Given the description of an element on the screen output the (x, y) to click on. 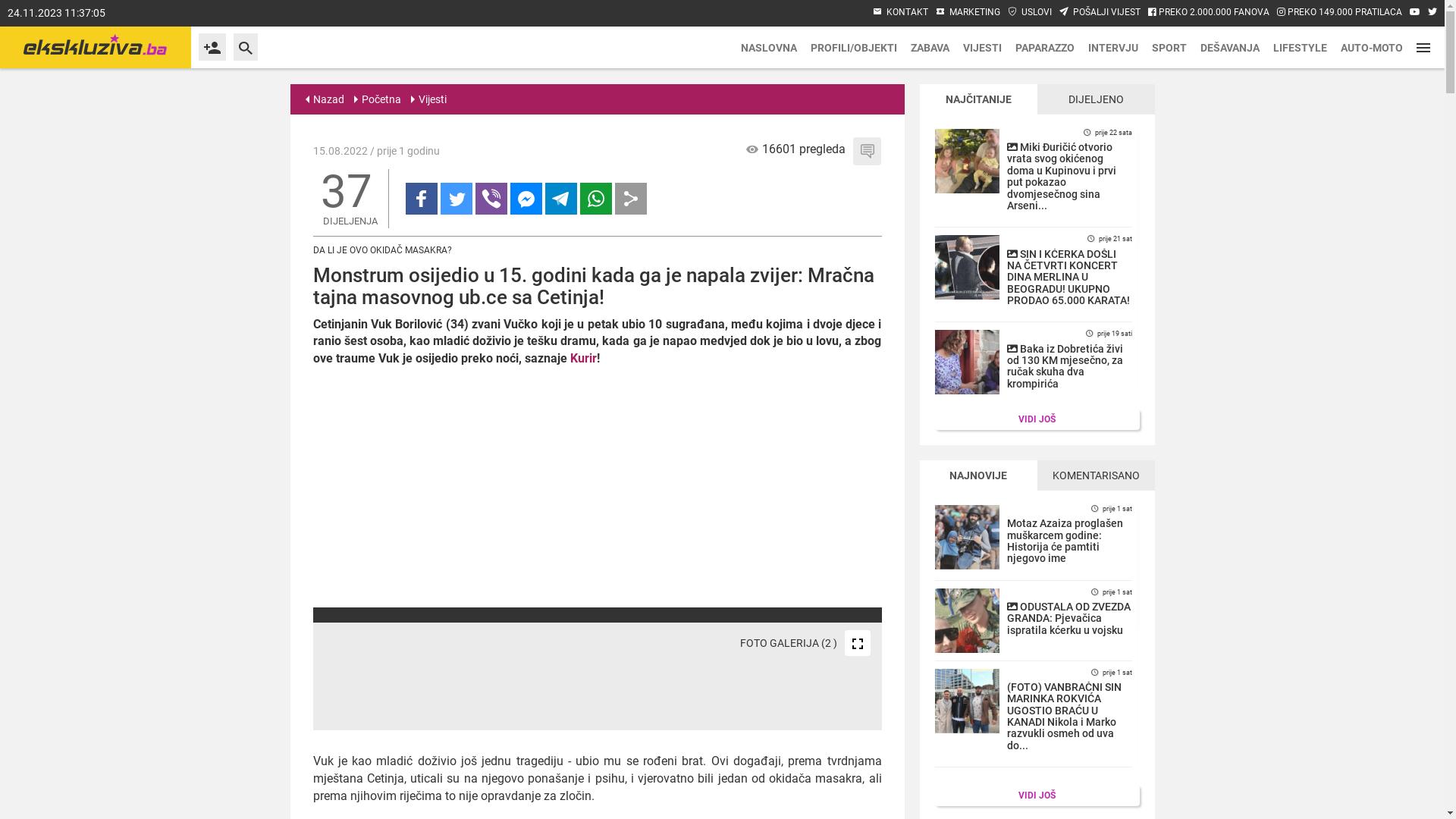
PAPARAZZO Element type: text (1044, 47)
WhatsApp Element type: text (595, 198)
AUTO-MOTO Element type: text (1371, 47)
Nazad Element type: text (323, 98)
ZABAVA Element type: text (929, 47)
PROFILI/OBJEKTI Element type: text (853, 47)
LIFESTYLE Element type: text (1299, 47)
Facebook Element type: text (420, 198)
KONTAKT Element type: text (900, 12)
NAJNOVIJE Element type: text (977, 475)
DIJELJENO Element type: text (1095, 99)
Facebook Messenger Element type: text (525, 198)
VIJESTI Element type: text (982, 47)
Twitter Element type: text (455, 198)
KOMENTARISANO Element type: text (1095, 475)
PREKO 2.000.000 FANOVA Element type: text (1208, 12)
Telegram Element type: text (560, 198)
FOTO GALERIJA (2 ) Element type: text (737, 642)
USLOVI Element type: text (1029, 12)
Kurir Element type: text (583, 358)
Advertisement Element type: hover (596, 485)
MARKETING Element type: text (967, 12)
PREKO 149.000 PRATILACA Element type: text (1339, 12)
Vijesti Element type: text (428, 98)
NASLOVNA Element type: text (768, 47)
INTERVJU Element type: text (1113, 47)
SPORT Element type: text (1169, 47)
